Given the description of an element on the screen output the (x, y) to click on. 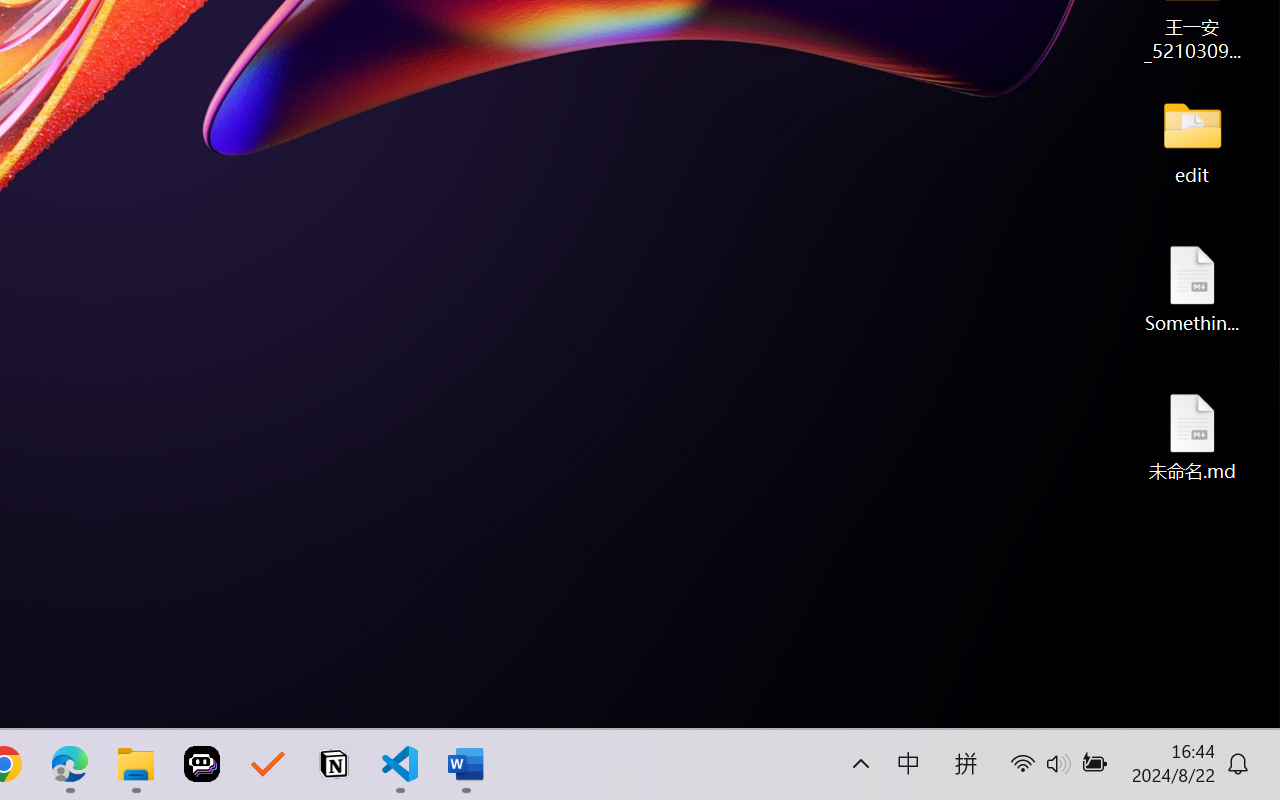
edit (1192, 140)
Something.md (1192, 288)
